Given the description of an element on the screen output the (x, y) to click on. 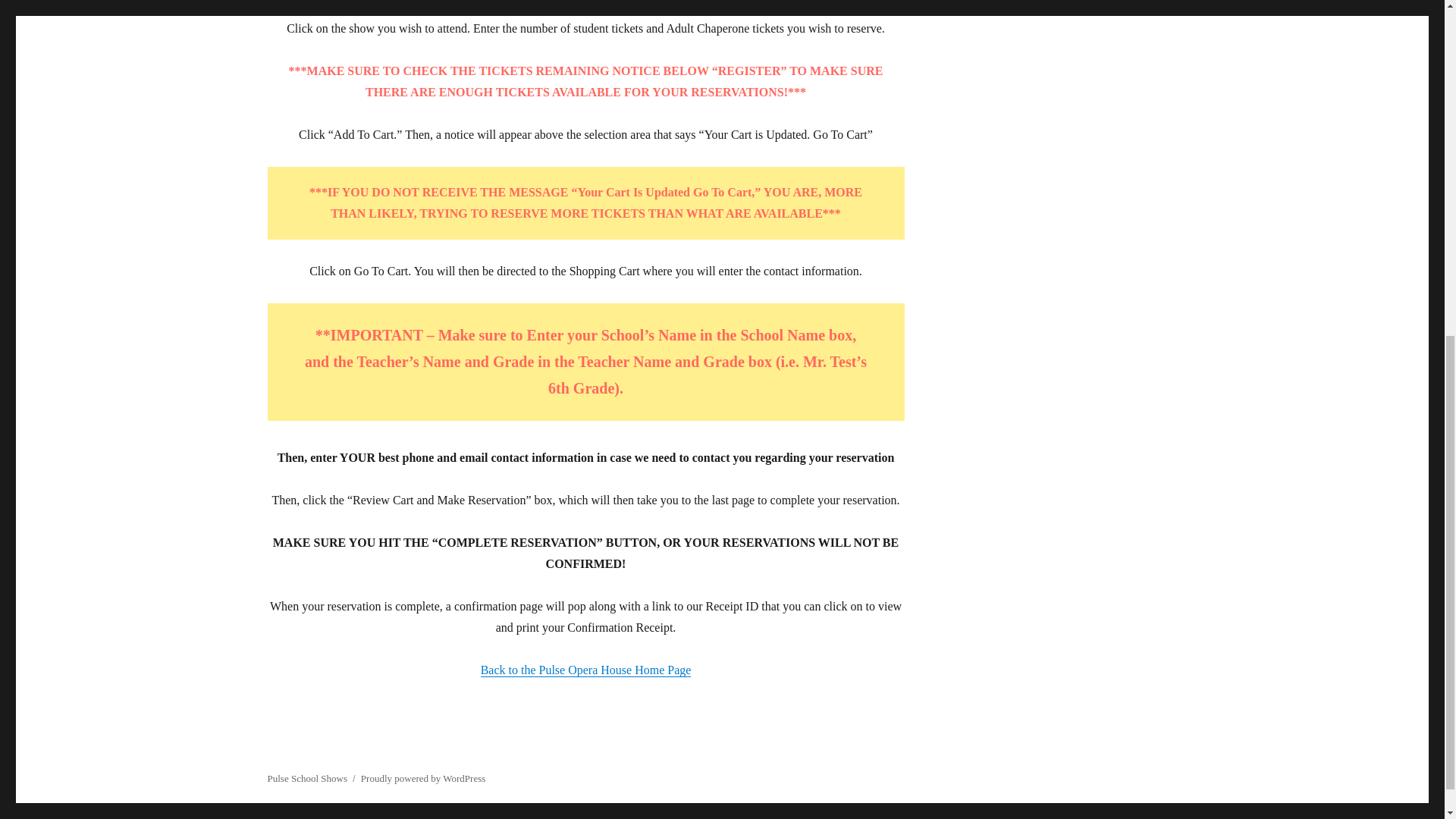
Back to the Pulse Opera House Home Page (585, 669)
Pulse School Shows (306, 778)
Proudly powered by WordPress (422, 778)
